Given the description of an element on the screen output the (x, y) to click on. 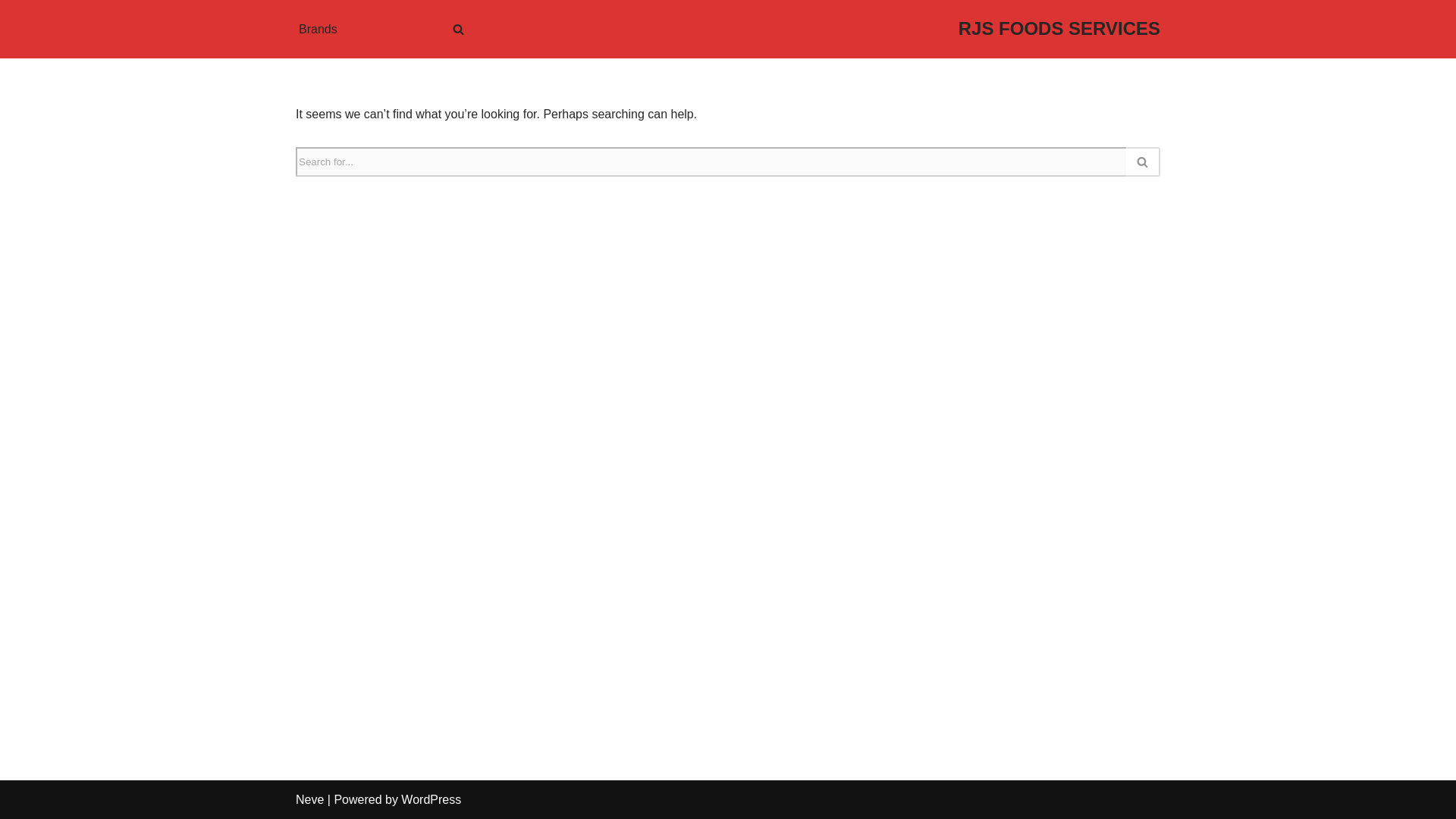
Brands (317, 28)
WordPress (431, 799)
Skip to content (11, 31)
Neve (309, 799)
RJS FOODS SERVICES (1059, 29)
